Given the description of an element on the screen output the (x, y) to click on. 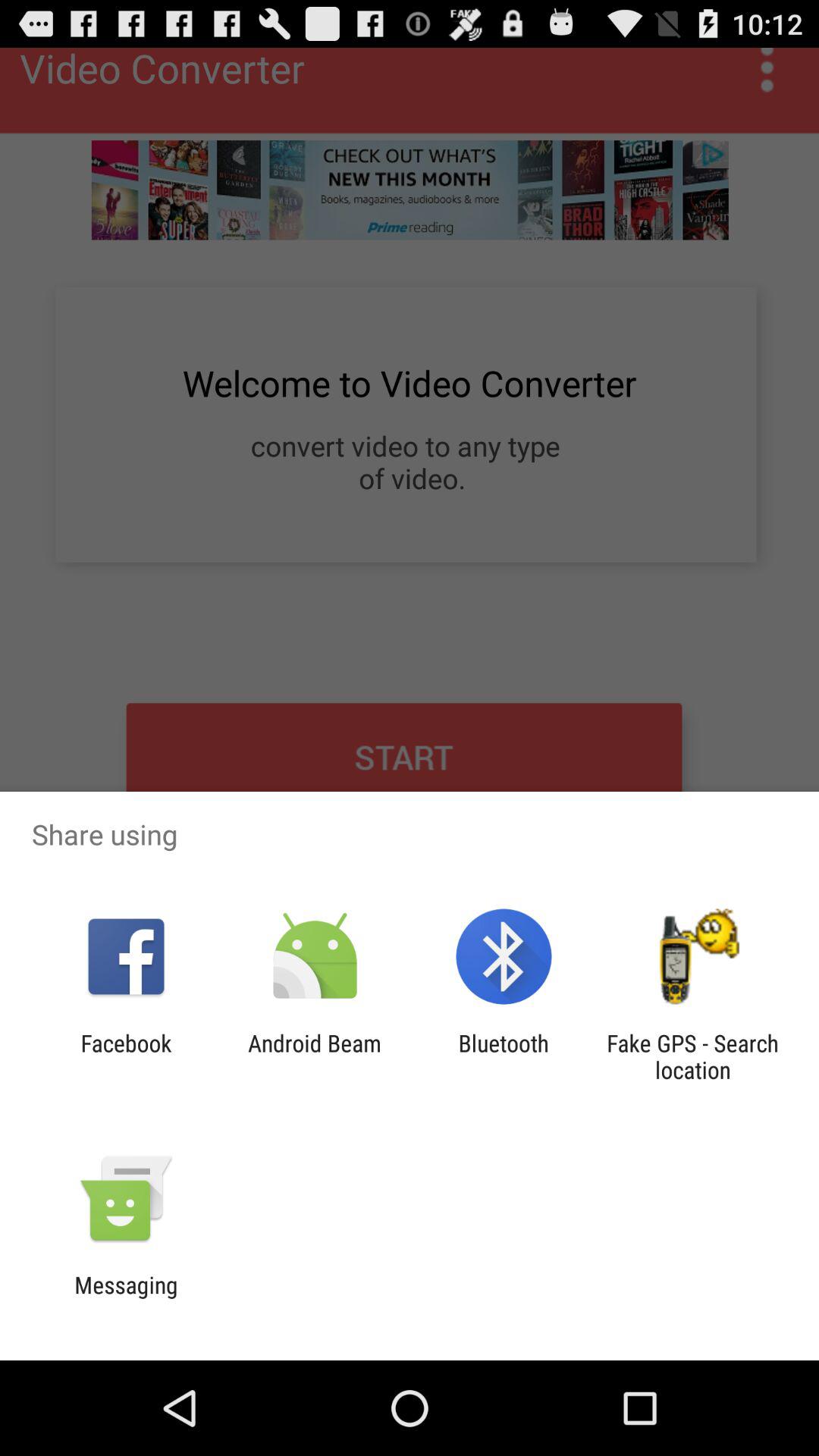
turn on item to the right of the bluetooth item (692, 1056)
